Given the description of an element on the screen output the (x, y) to click on. 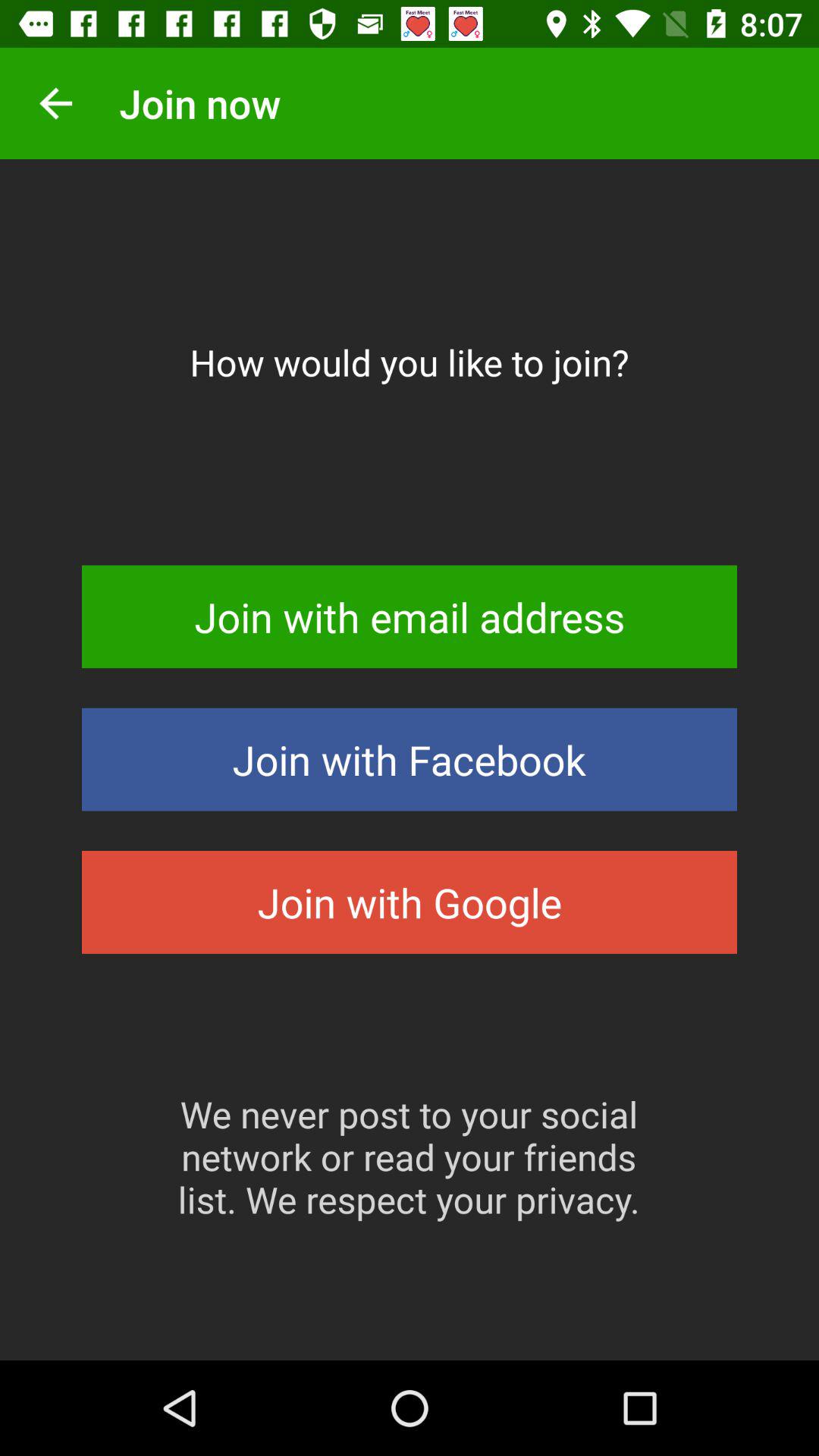
choose the app above how would you app (55, 103)
